Given the description of an element on the screen output the (x, y) to click on. 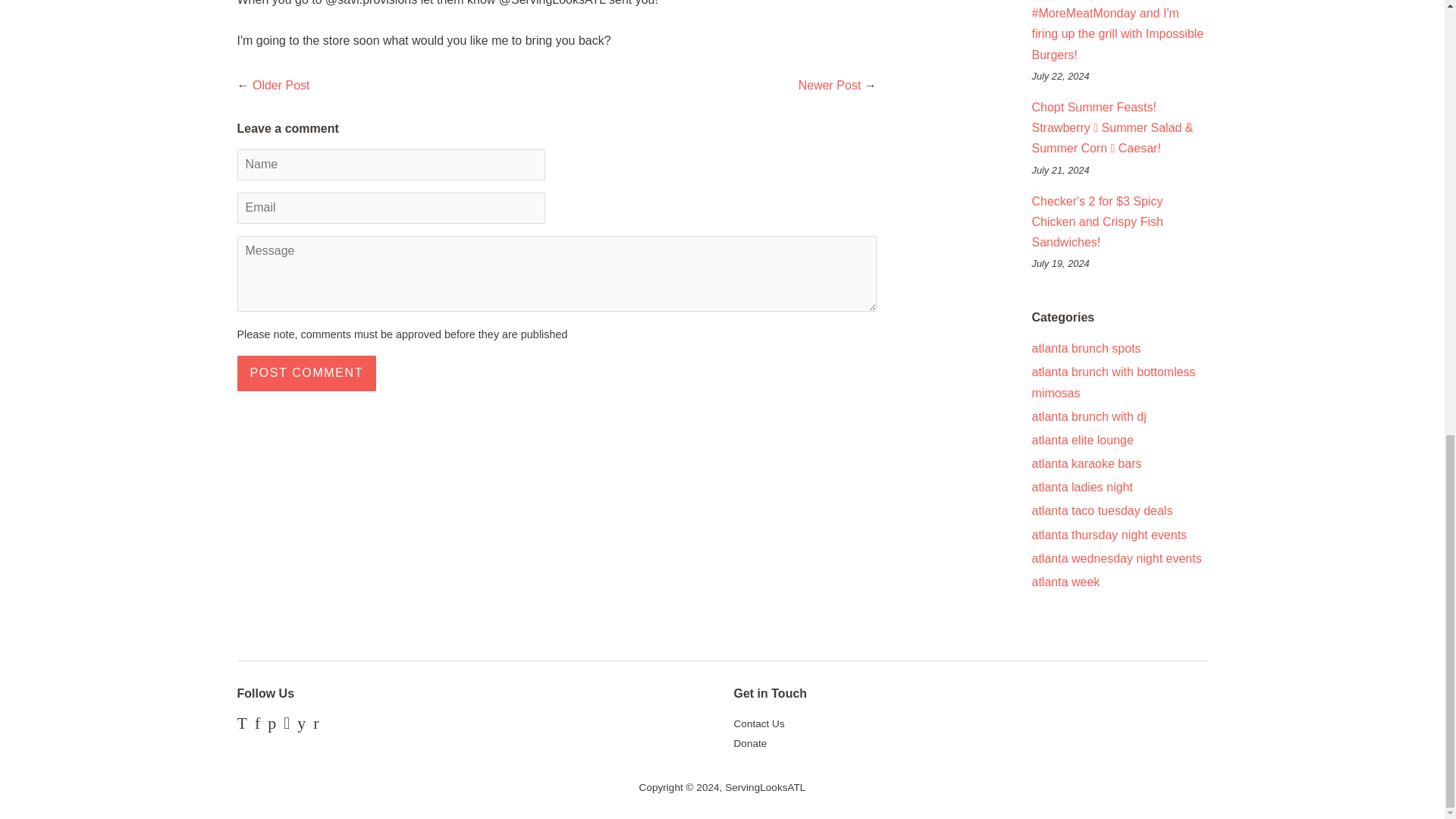
Show articles tagged atlanta ladies night (1081, 486)
Older Post (280, 84)
Post comment (305, 373)
Show articles tagged atlanta karaoke bars (1085, 463)
Newer Post (829, 84)
Show articles tagged atlanta wednesday night events (1115, 558)
Show articles tagged atlanta brunch spots (1085, 348)
Show articles tagged atlanta thursday night events (1108, 534)
Show articles tagged atlanta brunch with bottomless mimosas (1112, 381)
Show articles tagged atlanta week (1064, 581)
Post comment (305, 373)
Show articles tagged atlanta brunch with dj (1087, 416)
Show articles tagged atlanta taco tuesday deals (1101, 510)
Show articles tagged atlanta elite lounge (1081, 440)
